Given the description of an element on the screen output the (x, y) to click on. 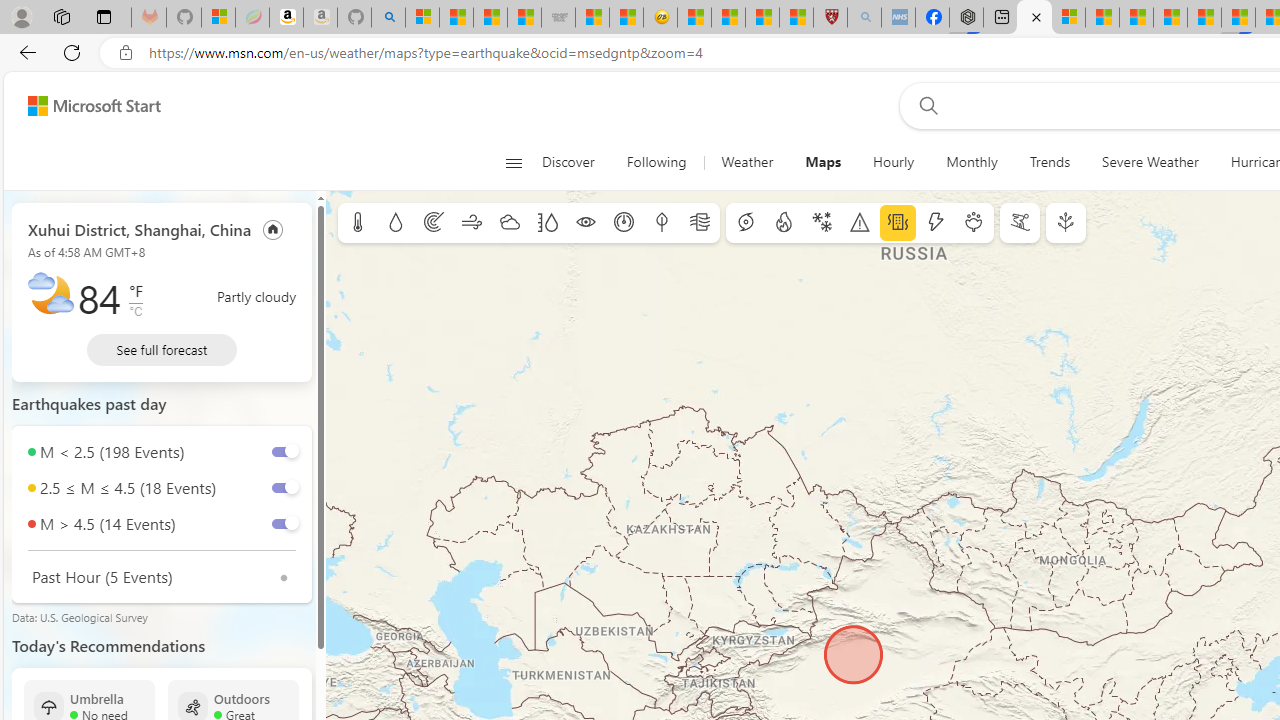
Trends (1049, 162)
Class: button-glyph (513, 162)
Severe weather (860, 223)
Visibility (586, 223)
New tab (1000, 17)
Severe Weather (1149, 162)
Ski conditions (1020, 223)
Fire information (783, 223)
Maps (823, 162)
E-tree (1066, 223)
Discover (568, 162)
